Given the description of an element on the screen output the (x, y) to click on. 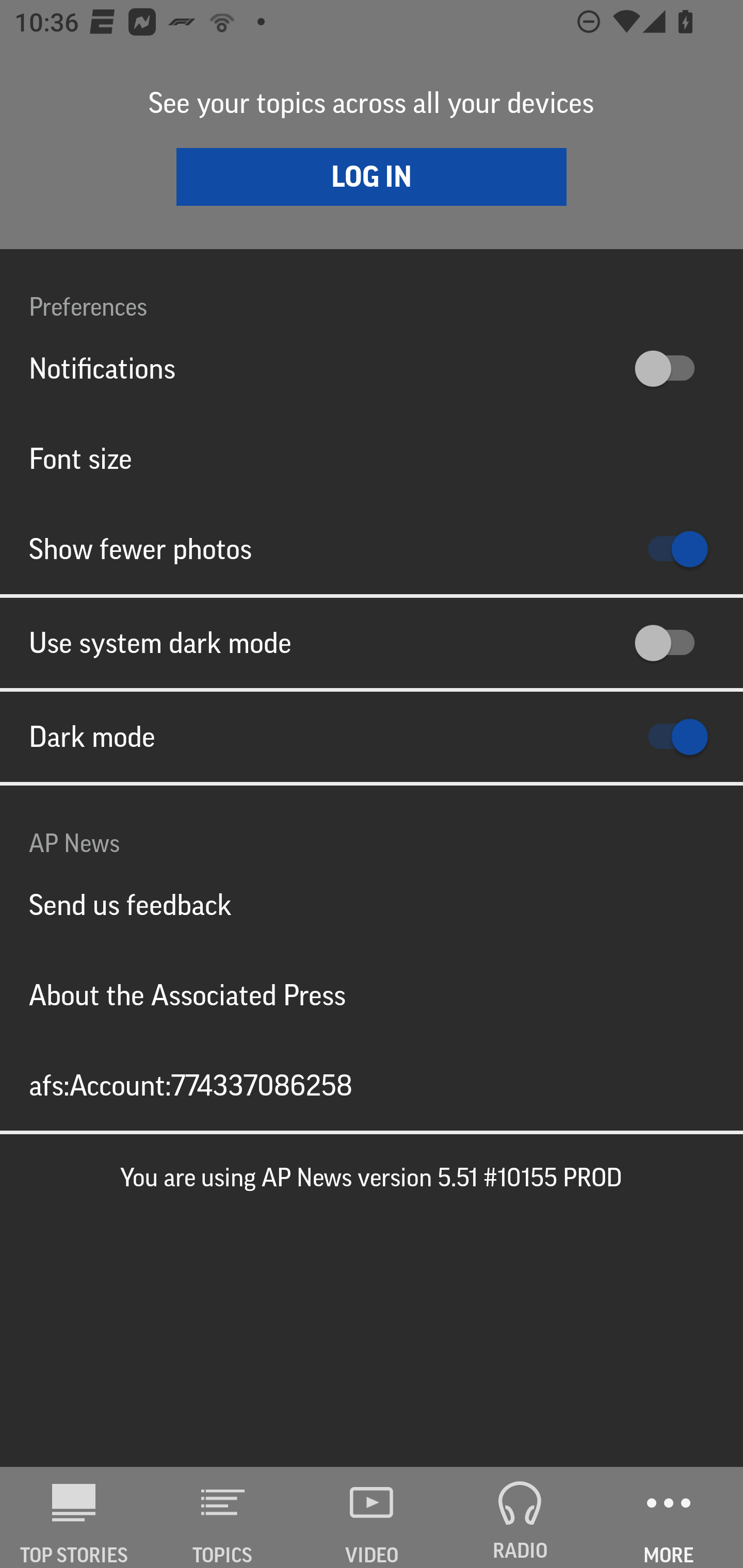
LOG IN (371, 176)
Notifications (371, 368)
Font size (371, 458)
Show fewer photos (371, 548)
Use system dark mode (371, 642)
Dark mode (371, 736)
Send us feedback (371, 904)
About the Associated Press (371, 994)
afs:Account:774337086258 (371, 1084)
AP News TOP STORIES (74, 1517)
TOPICS (222, 1517)
VIDEO (371, 1517)
RADIO (519, 1517)
MORE (668, 1517)
